Given the description of an element on the screen output the (x, y) to click on. 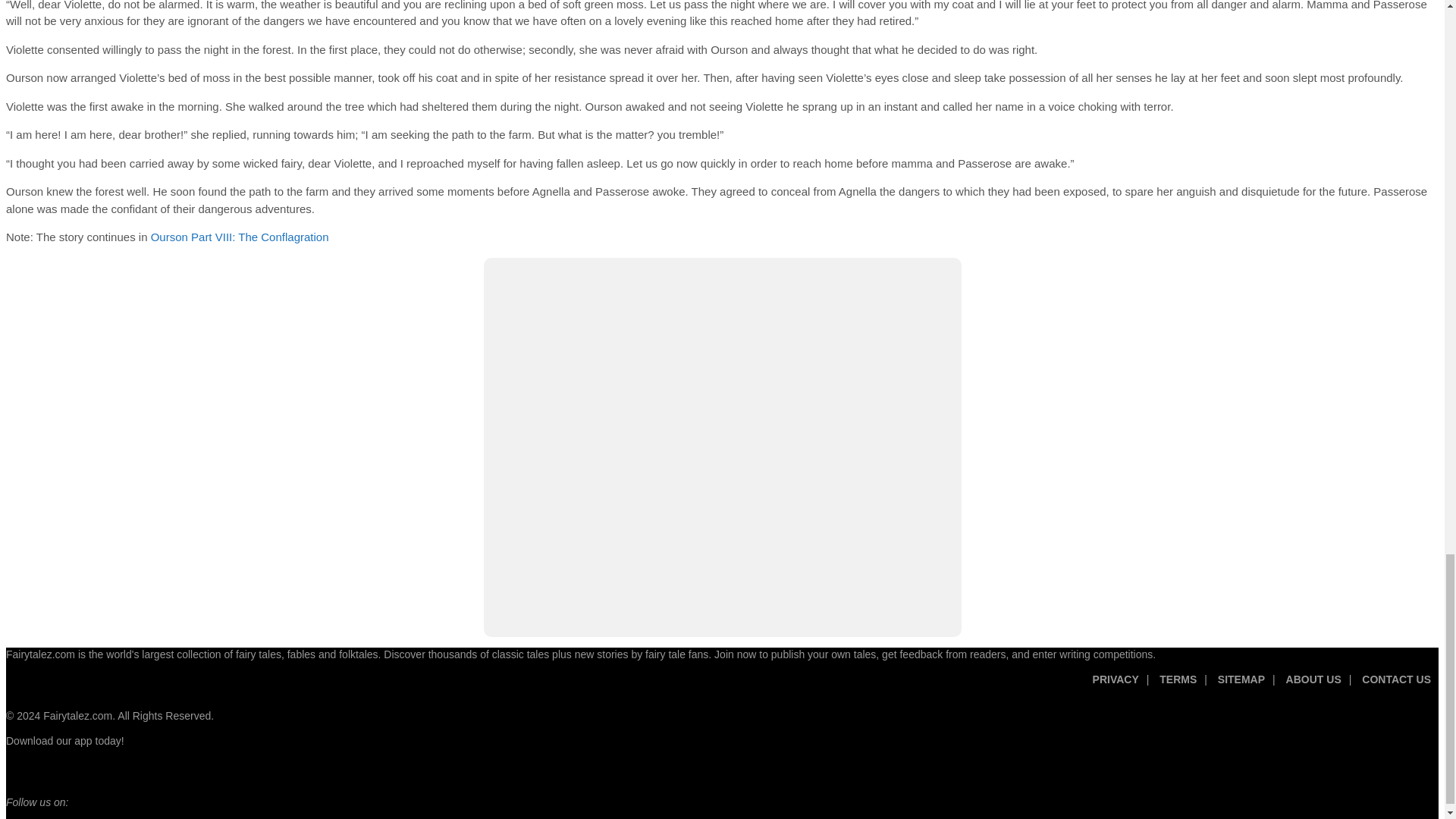
Fairytalez.com (40, 654)
SITEMAP (1241, 685)
Sitemap (1241, 685)
Fairytalez.com (77, 715)
PRIVACY (1115, 685)
Privacy (1115, 685)
ABOUT US (1312, 685)
TERMS (1177, 685)
Ourson Part VIII: The Conflagration (240, 236)
